Given the description of an element on the screen output the (x, y) to click on. 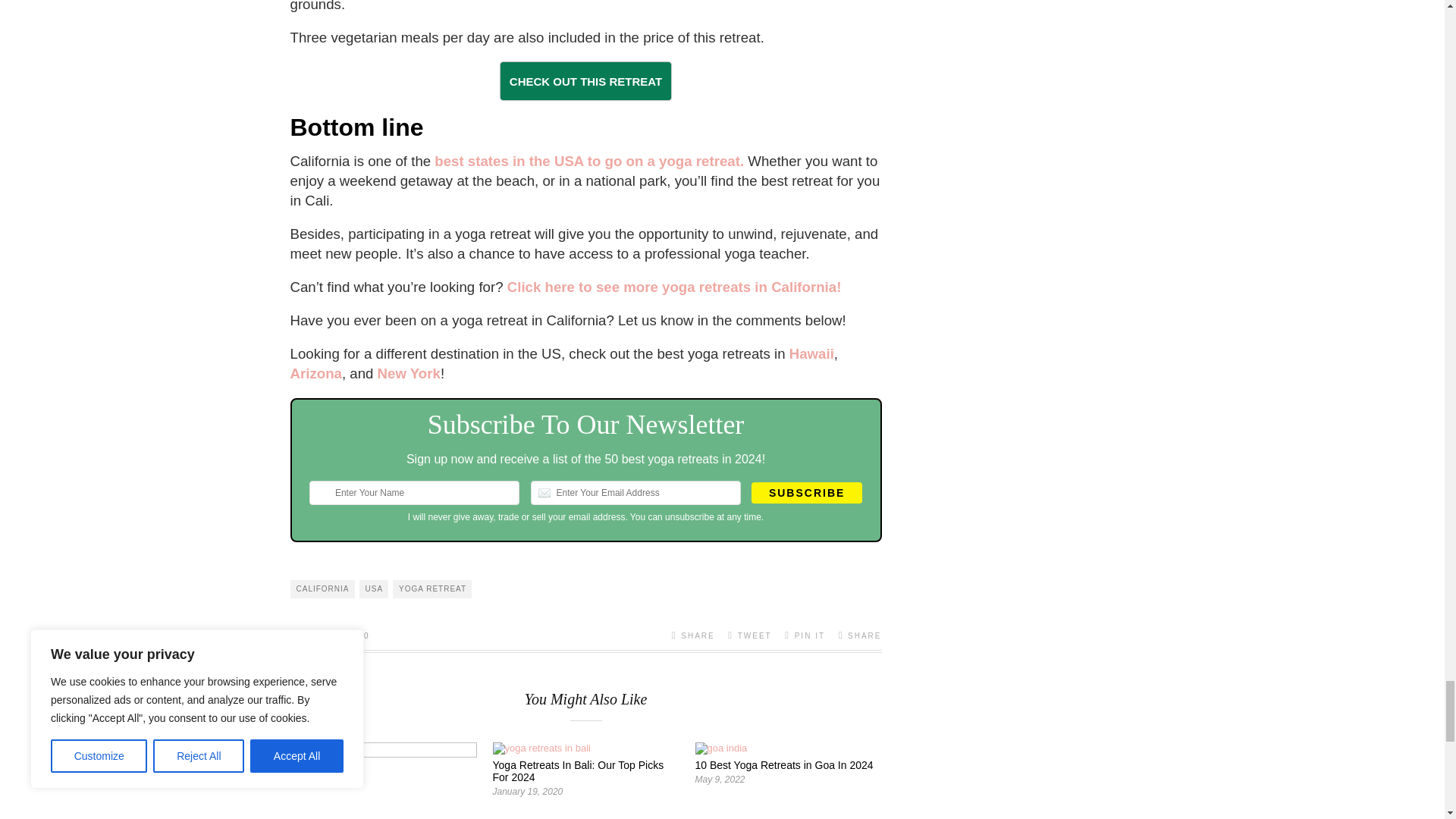
SUBSCRIBE (806, 492)
